Given the description of an element on the screen output the (x, y) to click on. 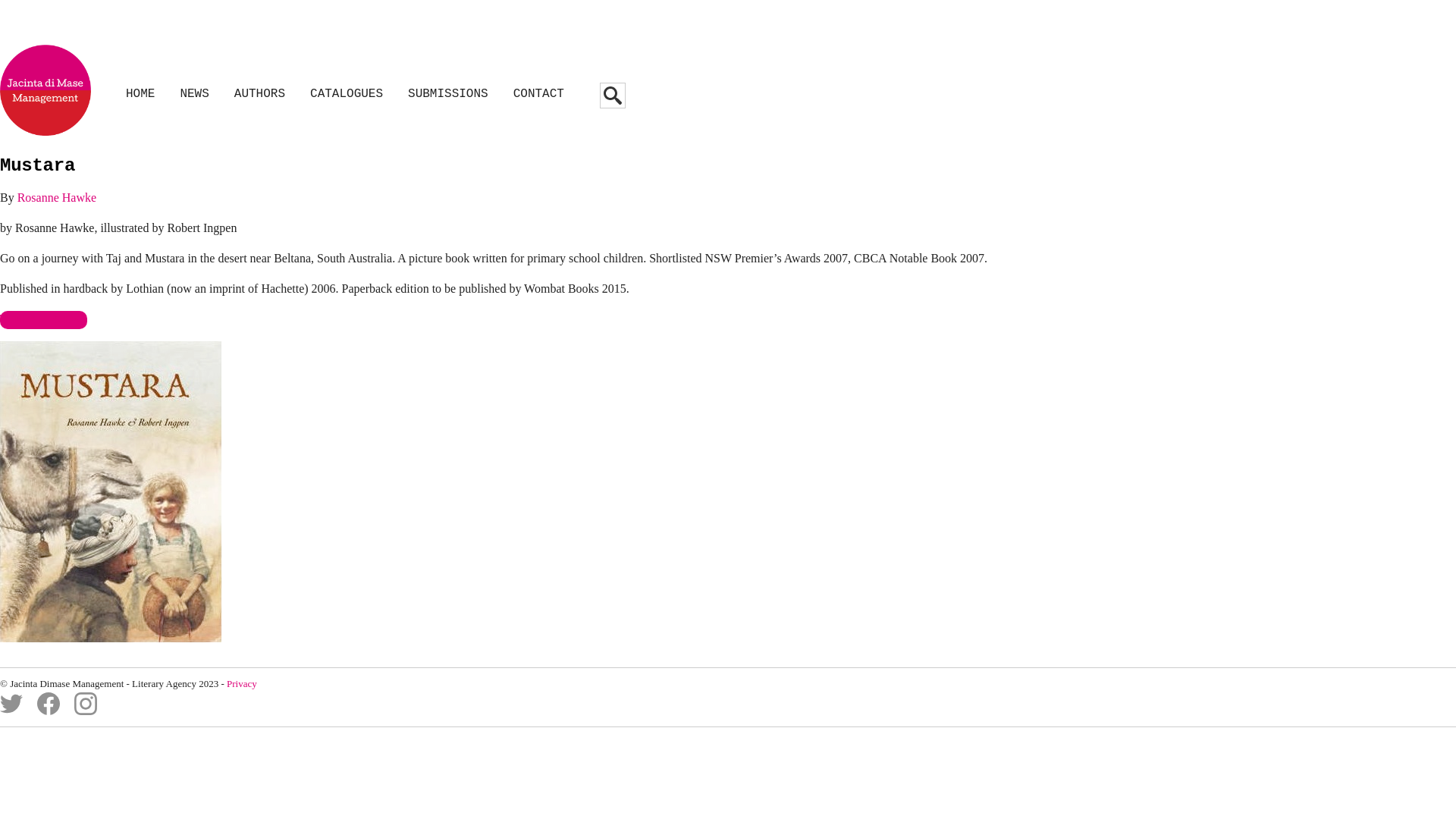
AUTHORS Element type: text (259, 93)
Instagram Element type: text (85, 710)
NEWS Element type: text (193, 93)
WOMBAT BOOKS Element type: text (43, 319)
SUBMISSIONS Element type: text (447, 93)
HOME Element type: text (139, 93)
CONTACT Element type: text (538, 93)
Rosanne Hawke Element type: text (56, 197)
Privacy Element type: text (241, 683)
Twitter Element type: text (11, 710)
Facebook Element type: text (48, 710)
CATALOGUES Element type: text (346, 93)
